Given the description of an element on the screen output the (x, y) to click on. 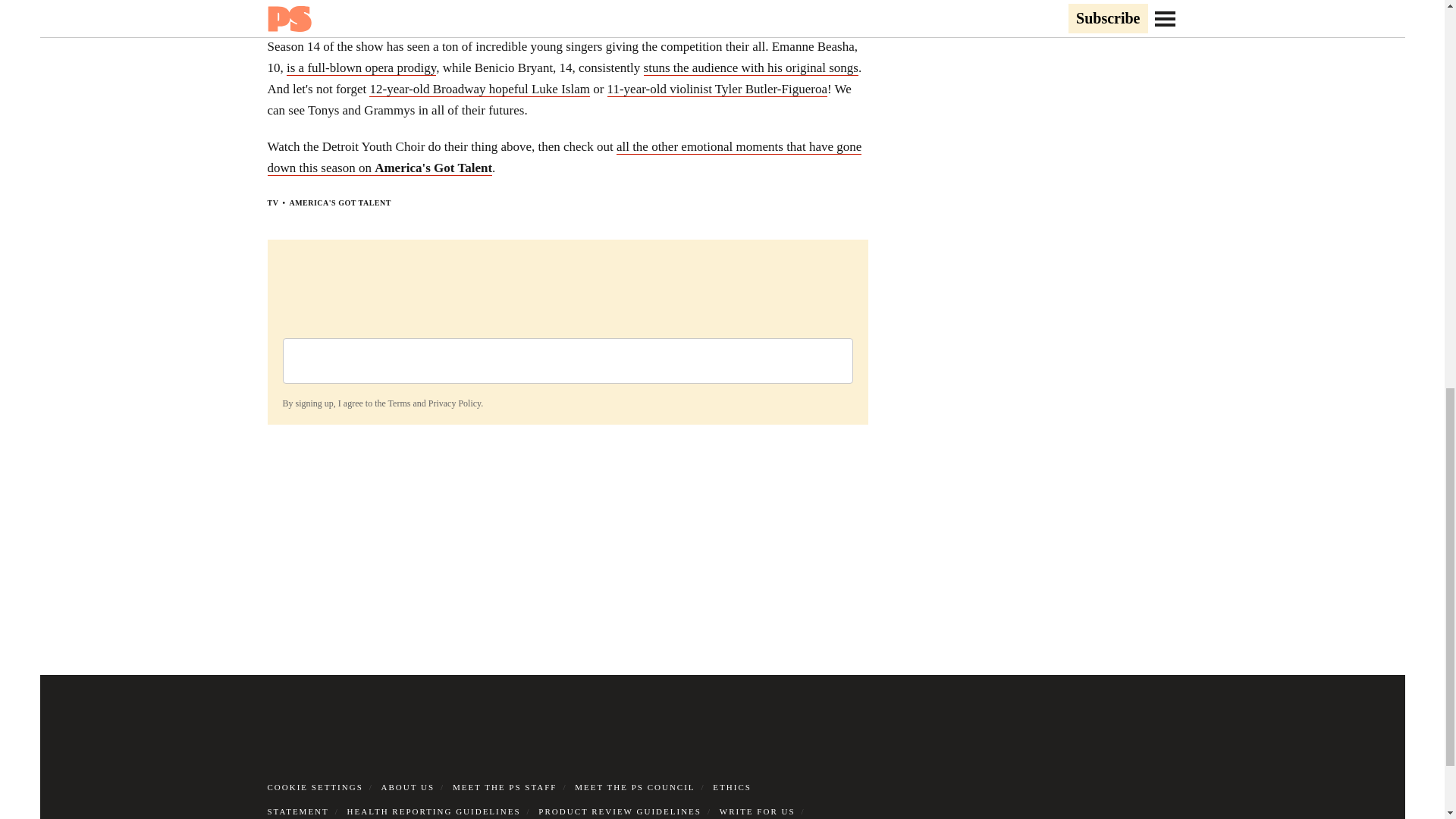
ABOUT US (408, 787)
AMERICA'S GOT TALENT (339, 203)
MEET THE PS COUNCIL (634, 787)
11-year-old violinist Tyler Butler-Figueroa (717, 89)
TV (272, 203)
MEET THE PS STAFF (504, 787)
HEALTH REPORTING GUIDELINES (434, 811)
WRITE FOR US (756, 811)
stuns the audience with his original songs (751, 68)
